Given the description of an element on the screen output the (x, y) to click on. 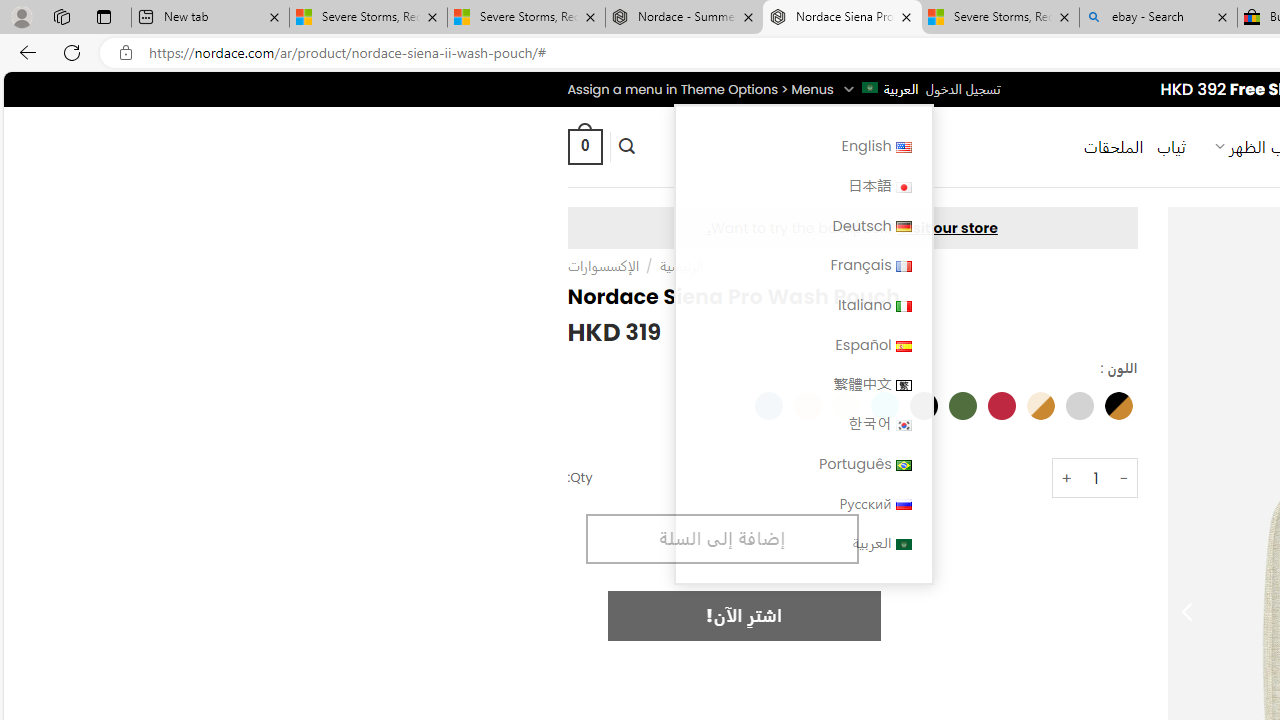
Assign a menu in Theme Options > Menus (700, 89)
Visit our store. (852, 228)
Deutsch (902, 227)
- (1124, 477)
Refresh (72, 52)
Italiano (902, 305)
Workspaces (61, 16)
Back (24, 52)
Tab actions menu (104, 16)
 0  (584, 146)
